Given the description of an element on the screen output the (x, y) to click on. 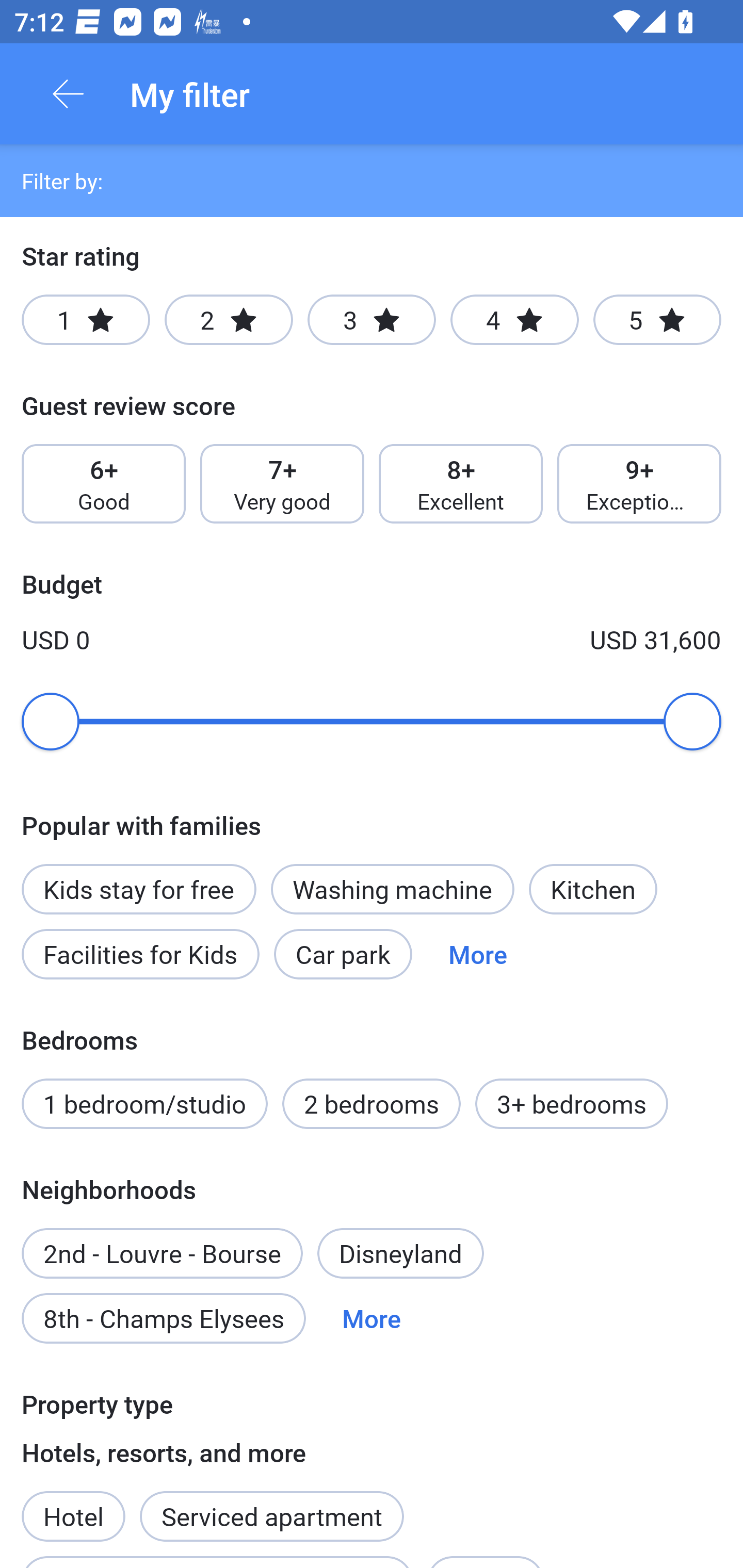
1 (85, 319)
2 (228, 319)
3 (371, 319)
4 (514, 319)
5 (657, 319)
6+ Good (103, 483)
7+ Very good (281, 483)
8+ Excellent (460, 483)
9+ Exceptional (639, 483)
Kids stay for free (138, 878)
Washing machine (392, 888)
Kitchen (593, 888)
Facilities for Kids (140, 954)
Car park (343, 954)
More (477, 954)
1 bedroom/studio (144, 1103)
2 bedrooms (371, 1103)
3+ bedrooms (571, 1103)
2nd - Louvre - Bourse (162, 1242)
Disneyland (400, 1253)
8th - Champs Elysees (163, 1317)
More (371, 1317)
Hotel (73, 1505)
Serviced apartment (271, 1505)
